Given the description of an element on the screen output the (x, y) to click on. 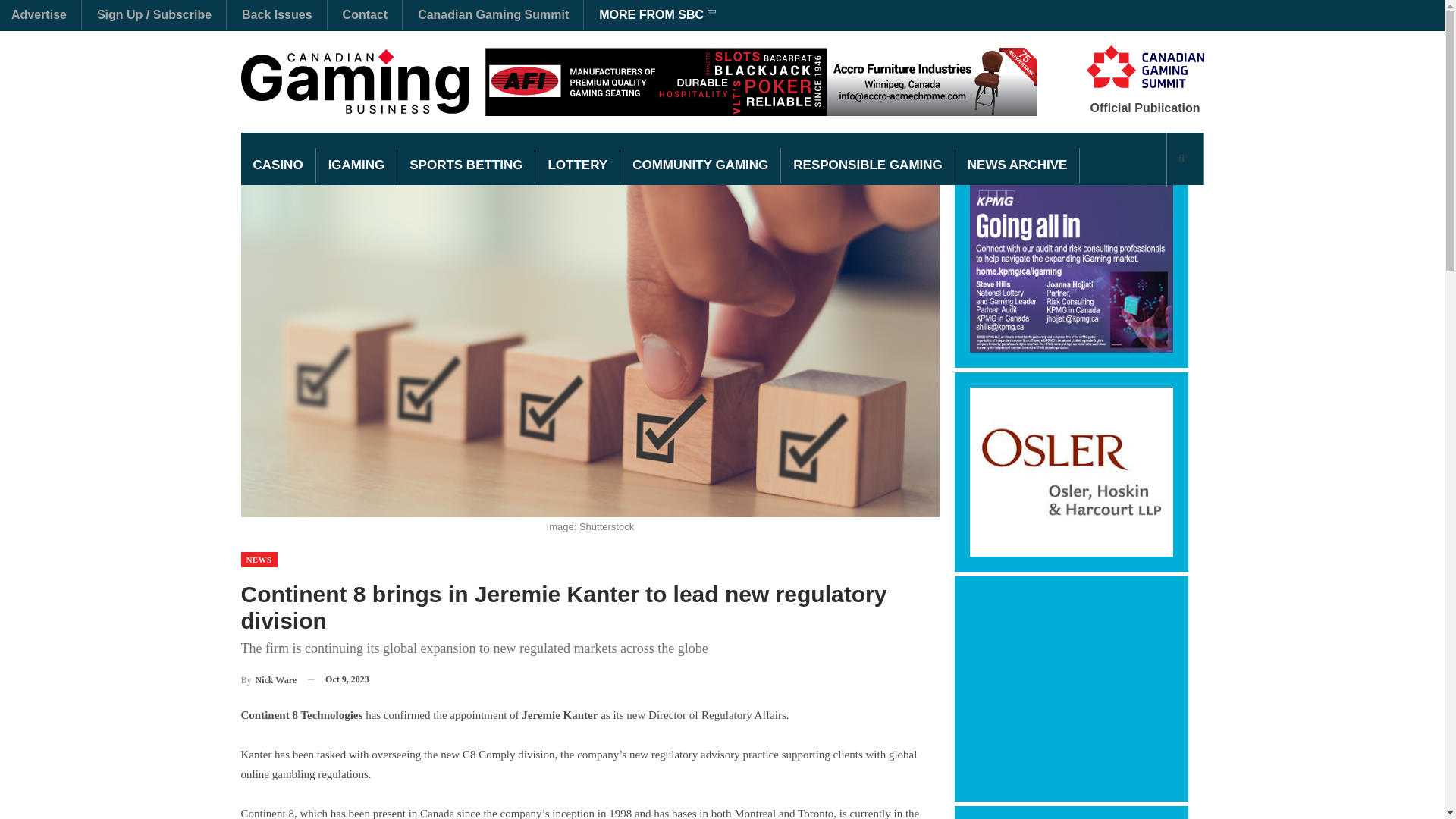
Back Issues (277, 14)
Advertise (38, 14)
KPMG (1071, 267)
Canadian Gaming Summit (493, 14)
Osler (1071, 471)
Browse Author Articles (269, 679)
Contact (365, 14)
